Given the description of an element on the screen output the (x, y) to click on. 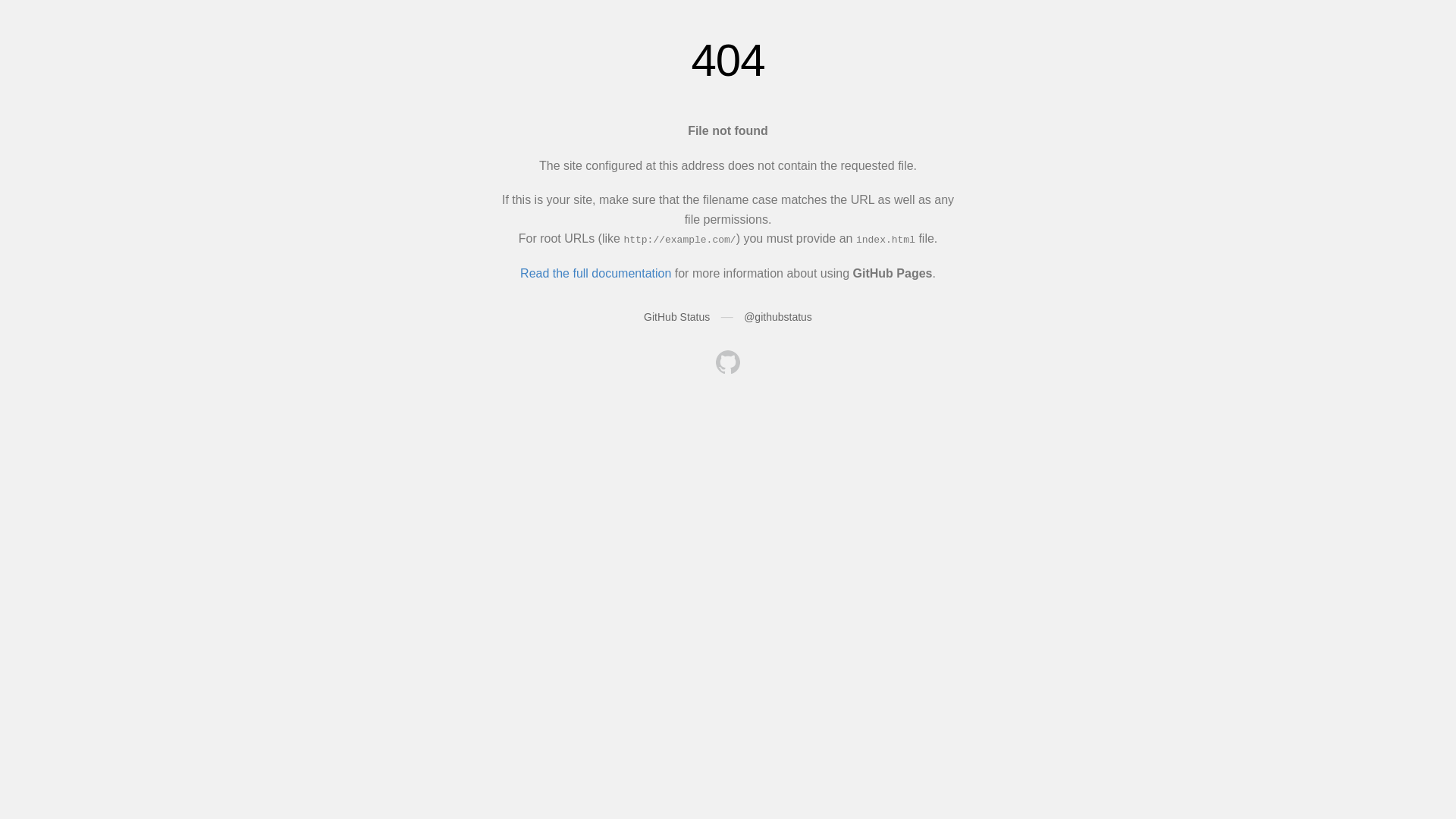
@githubstatus Element type: text (777, 316)
Read the full documentation Element type: text (595, 272)
GitHub Status Element type: text (676, 316)
